Given the description of an element on the screen output the (x, y) to click on. 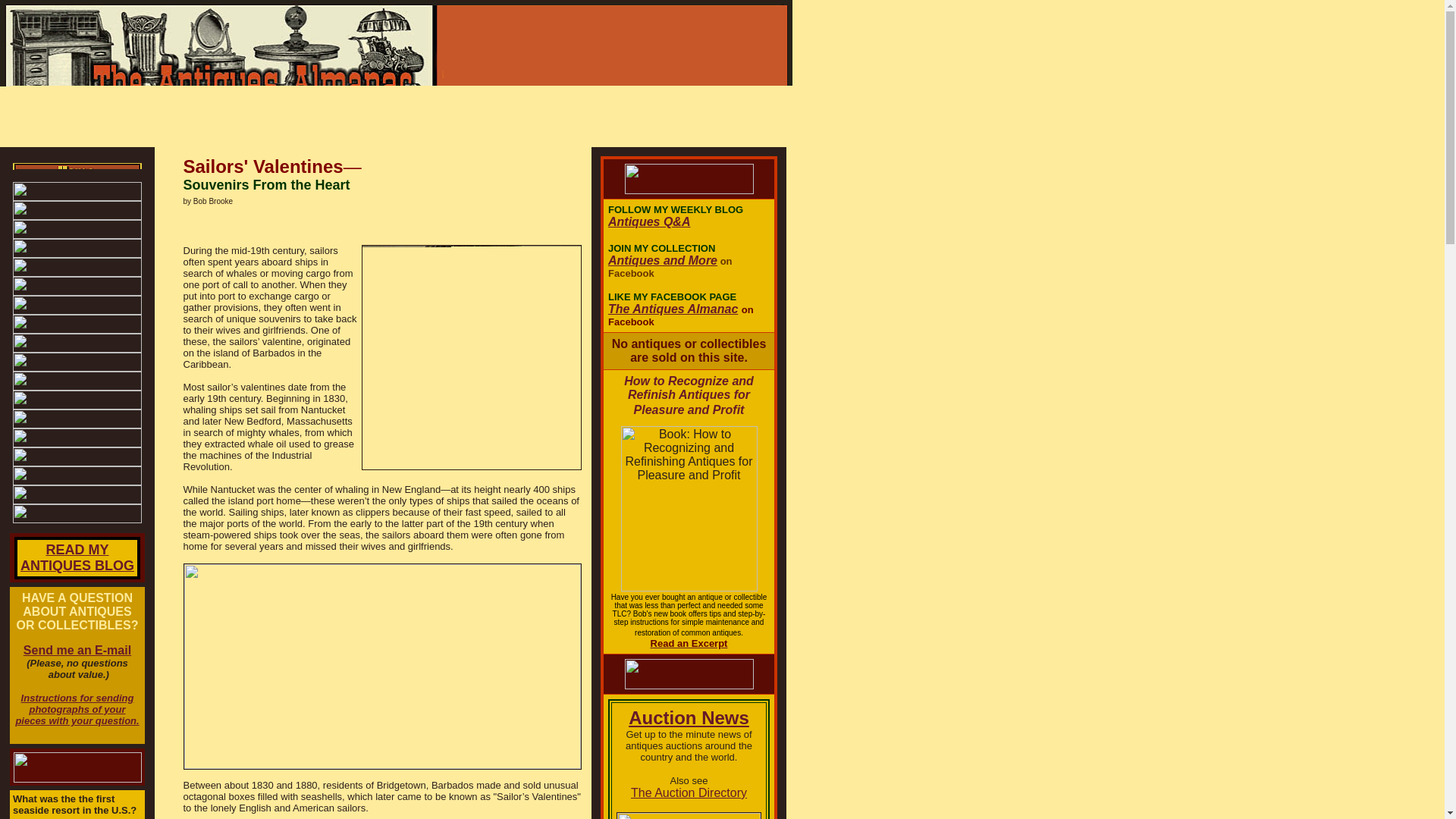
Send me an E-mail (76, 557)
